Given the description of an element on the screen output the (x, y) to click on. 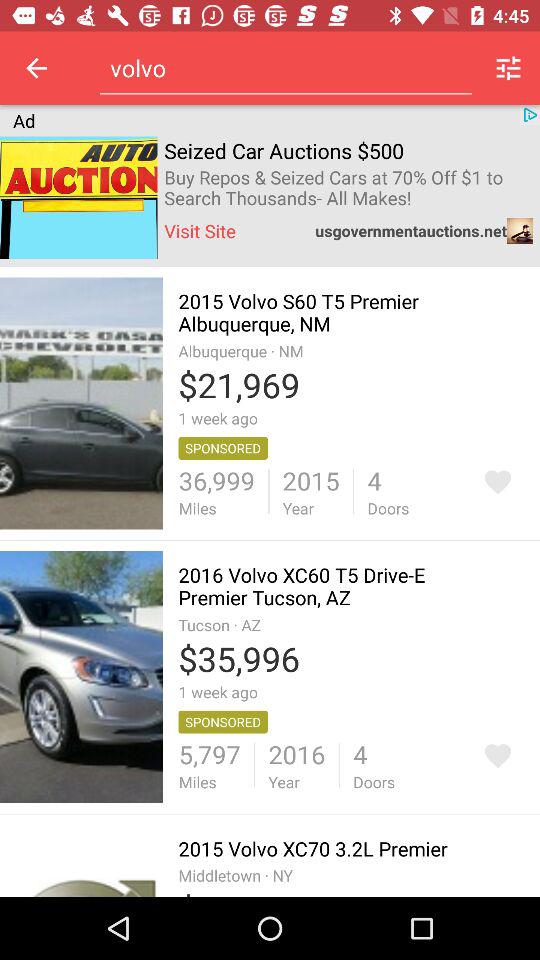
add to favorites (497, 755)
